Given the description of an element on the screen output the (x, y) to click on. 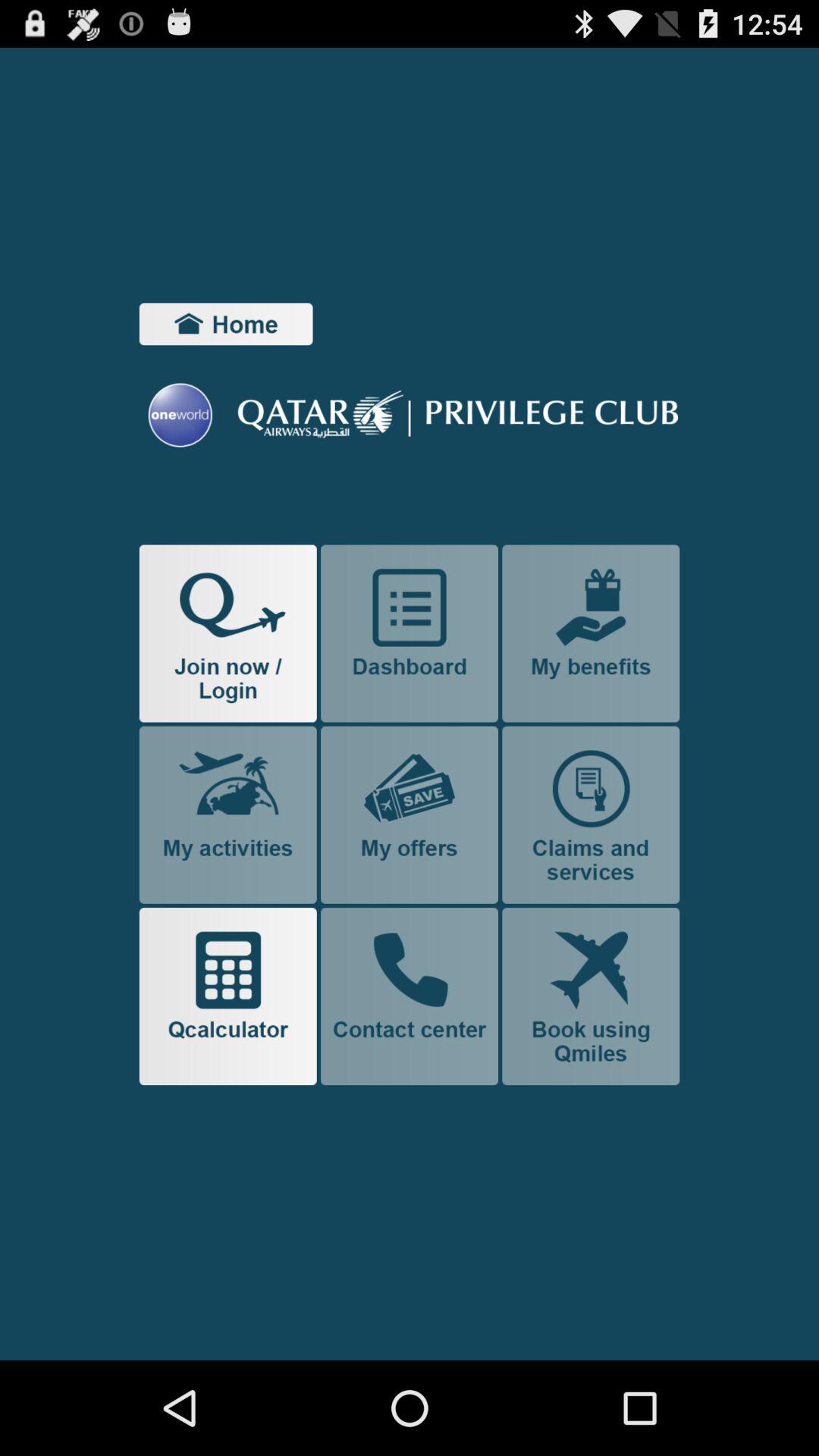
choose book using qmiles (590, 996)
